Given the description of an element on the screen output the (x, y) to click on. 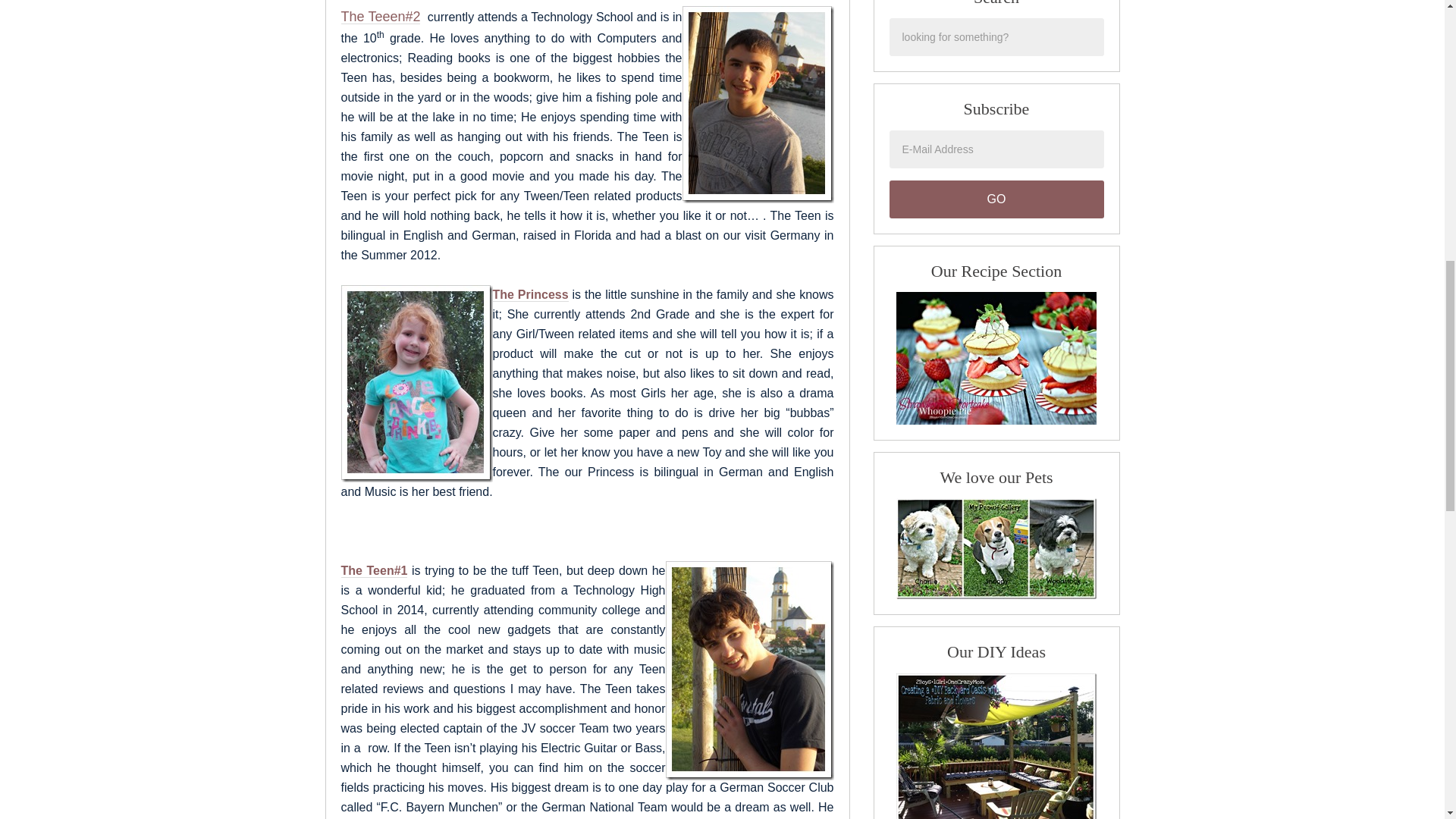
Go (995, 199)
The Princess (531, 295)
